Given the description of an element on the screen output the (x, y) to click on. 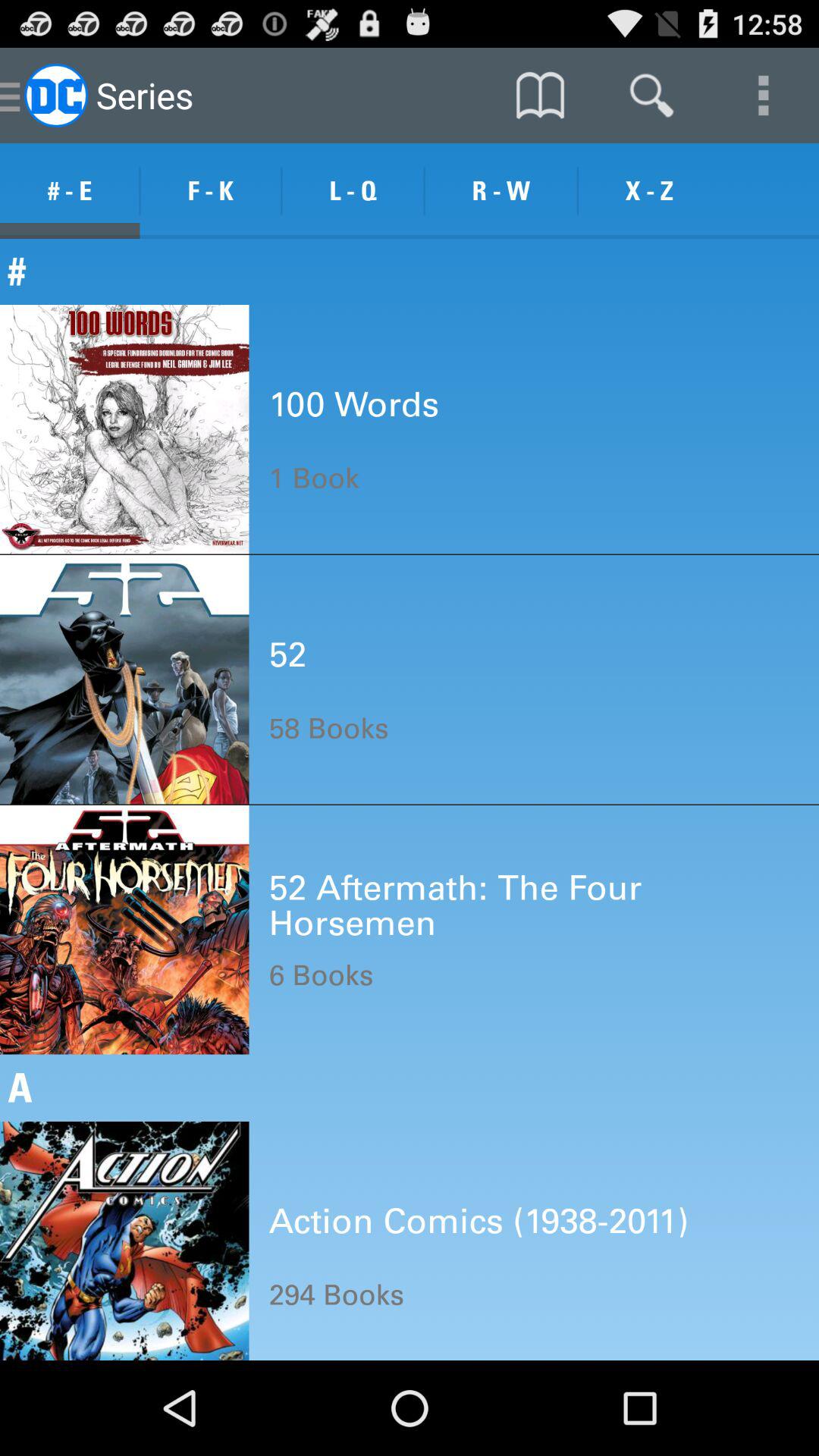
turn off item next to the l - q (210, 190)
